Given the description of an element on the screen output the (x, y) to click on. 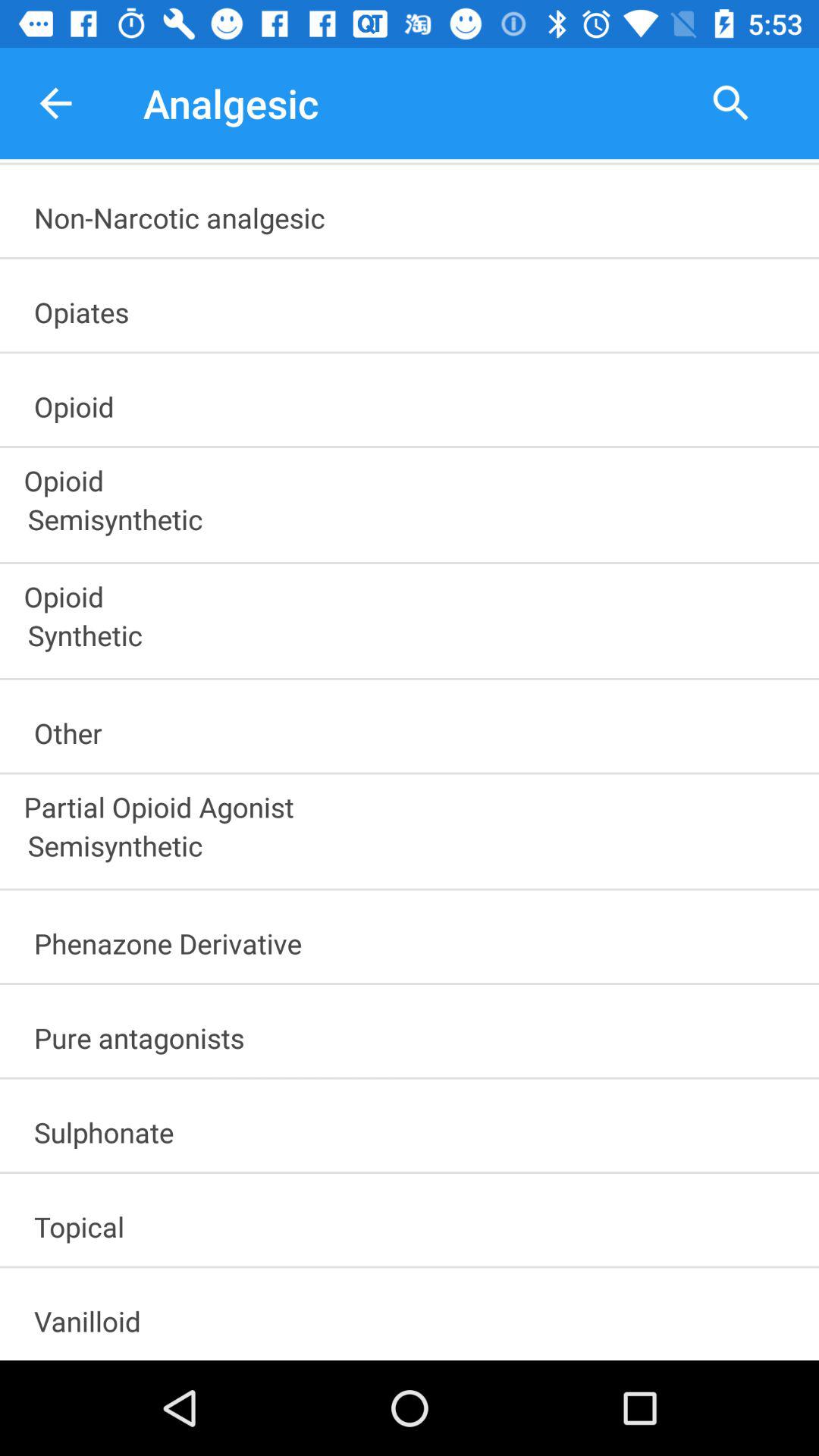
choose item above partial opioid agonist item (416, 728)
